Given the description of an element on the screen output the (x, y) to click on. 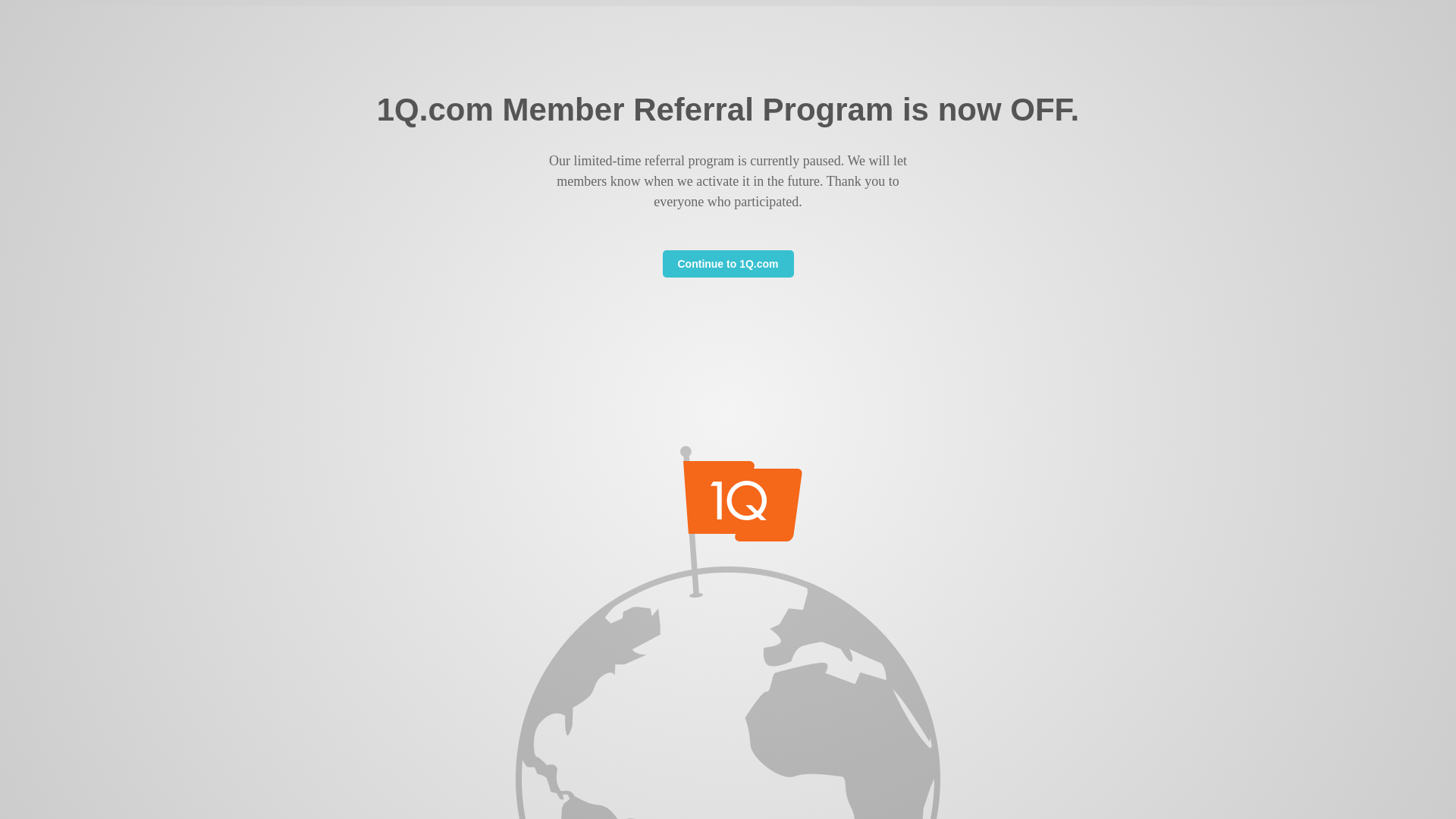
Continue to 1Q.com Element type: text (727, 263)
